Given the description of an element on the screen output the (x, y) to click on. 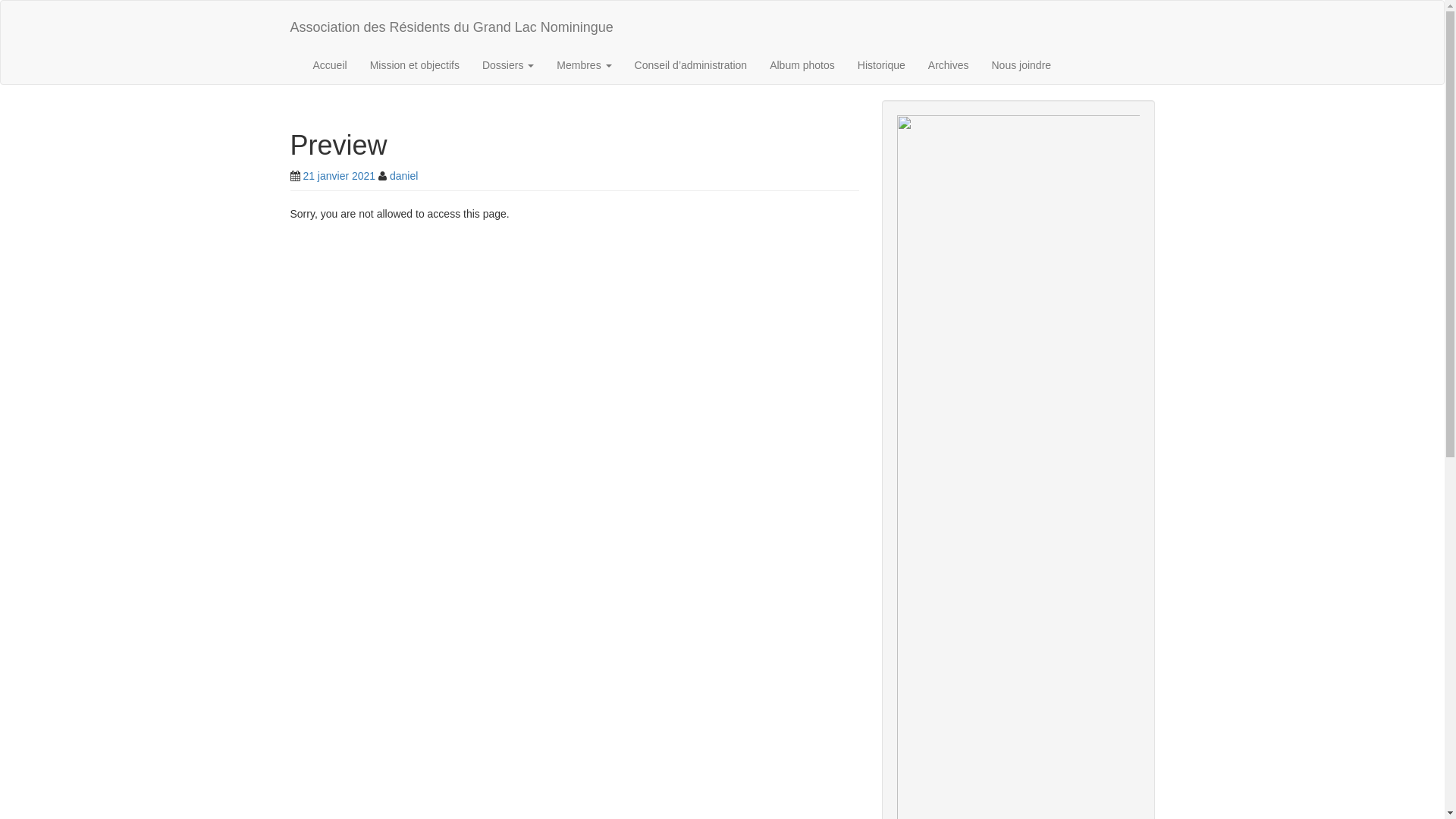
Historique Element type: text (881, 65)
Membres Element type: text (583, 65)
Accueil Element type: text (329, 65)
daniel Element type: text (403, 175)
Mission et objectifs Element type: text (414, 65)
Album photos Element type: text (802, 65)
21 janvier 2021 Element type: text (338, 175)
Dossiers Element type: text (507, 65)
Archives Element type: text (948, 65)
Nous joindre Element type: text (1020, 65)
